Given the description of an element on the screen output the (x, y) to click on. 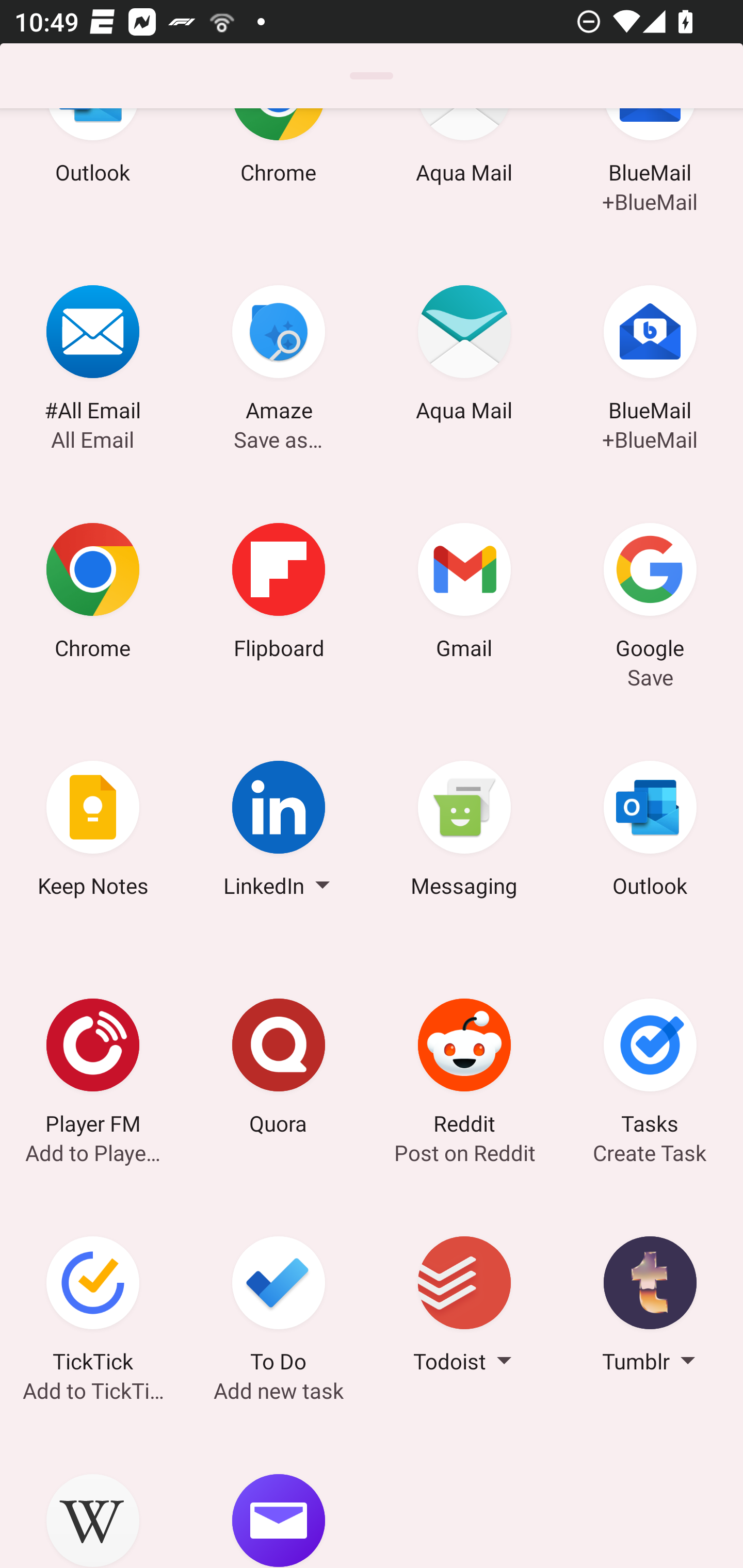
Outlook (92, 173)
Chrome (278, 173)
Aqua Mail (464, 173)
BlueMail +BlueMail (650, 173)
#All Email All Email (92, 356)
Amaze Save as… (278, 356)
Aqua Mail (464, 356)
BlueMail +BlueMail (650, 356)
Chrome (92, 594)
Flipboard (278, 594)
Gmail (464, 594)
Google Save (650, 594)
Keep Notes (92, 832)
LinkedIn (278, 832)
Messaging (464, 832)
Outlook (650, 832)
Player FM Add to Player FM (92, 1069)
Quora (278, 1069)
Reddit Post on Reddit (464, 1069)
Tasks Create Task (650, 1069)
TickTick Add to TickTick (92, 1307)
To Do Add new task (278, 1307)
Todoist (464, 1307)
Tumblr (650, 1307)
